Given the description of an element on the screen output the (x, y) to click on. 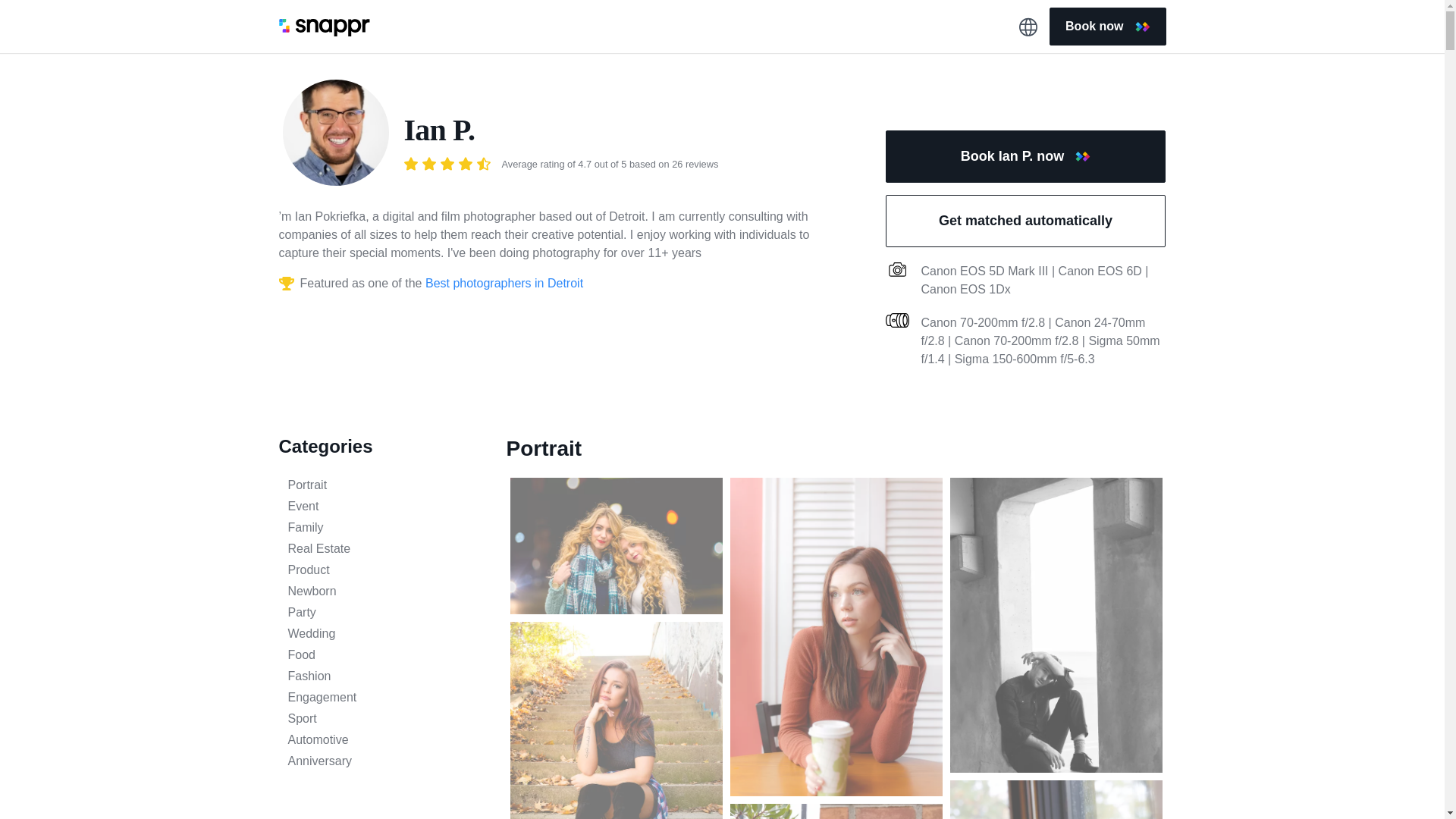
Sport (381, 719)
Automotive (381, 740)
Party (381, 612)
Food (381, 655)
Newborn (381, 591)
Event (381, 506)
Portrait (381, 484)
Product (381, 570)
Real Estate (381, 548)
Book Ian P. now (1025, 156)
Anniversary (381, 761)
Book now (1107, 26)
Fashion (381, 676)
Wedding (381, 633)
Family (381, 527)
